Given the description of an element on the screen output the (x, y) to click on. 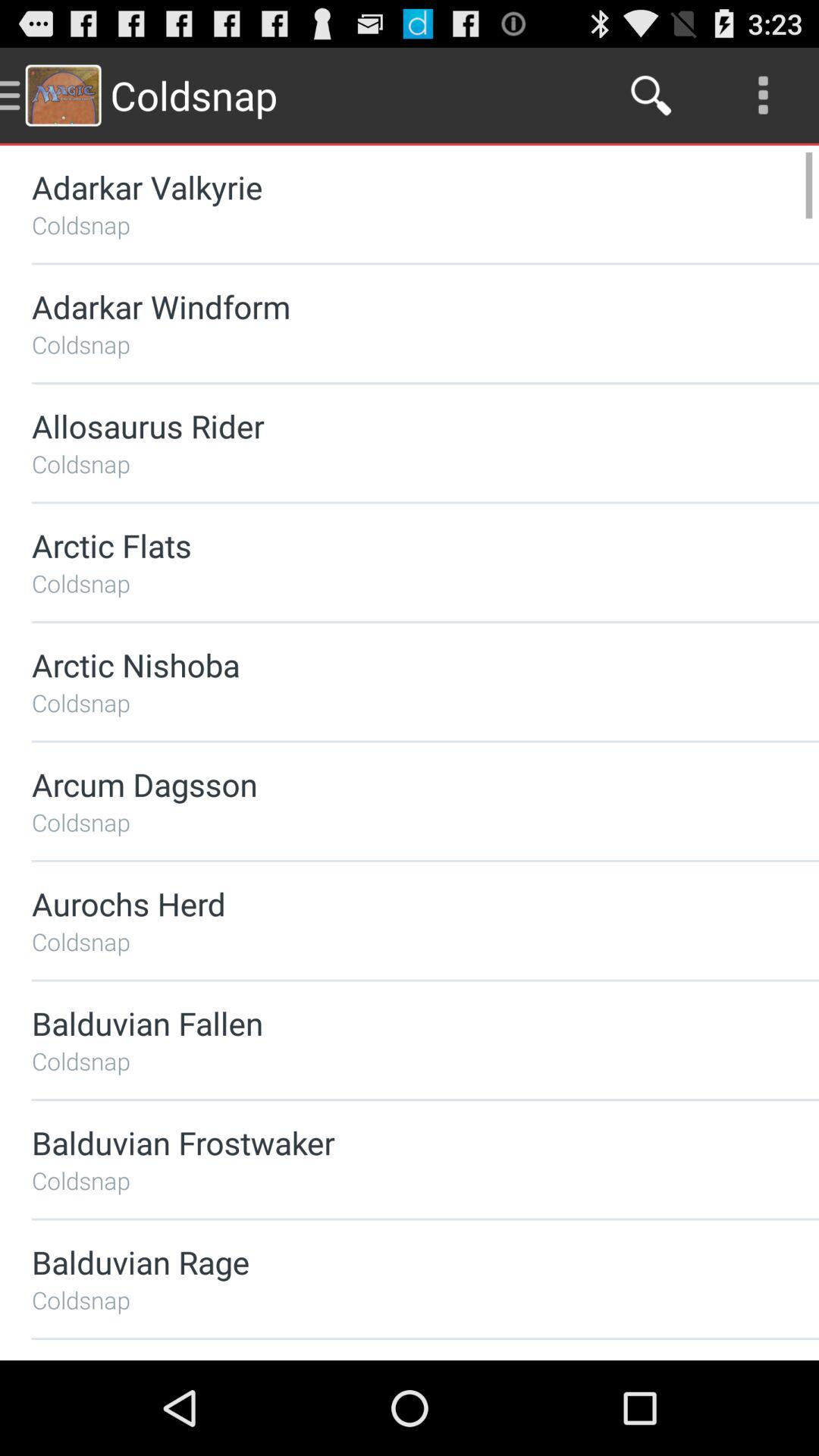
click the balduvian warlord (385, 1359)
